Given the description of an element on the screen output the (x, y) to click on. 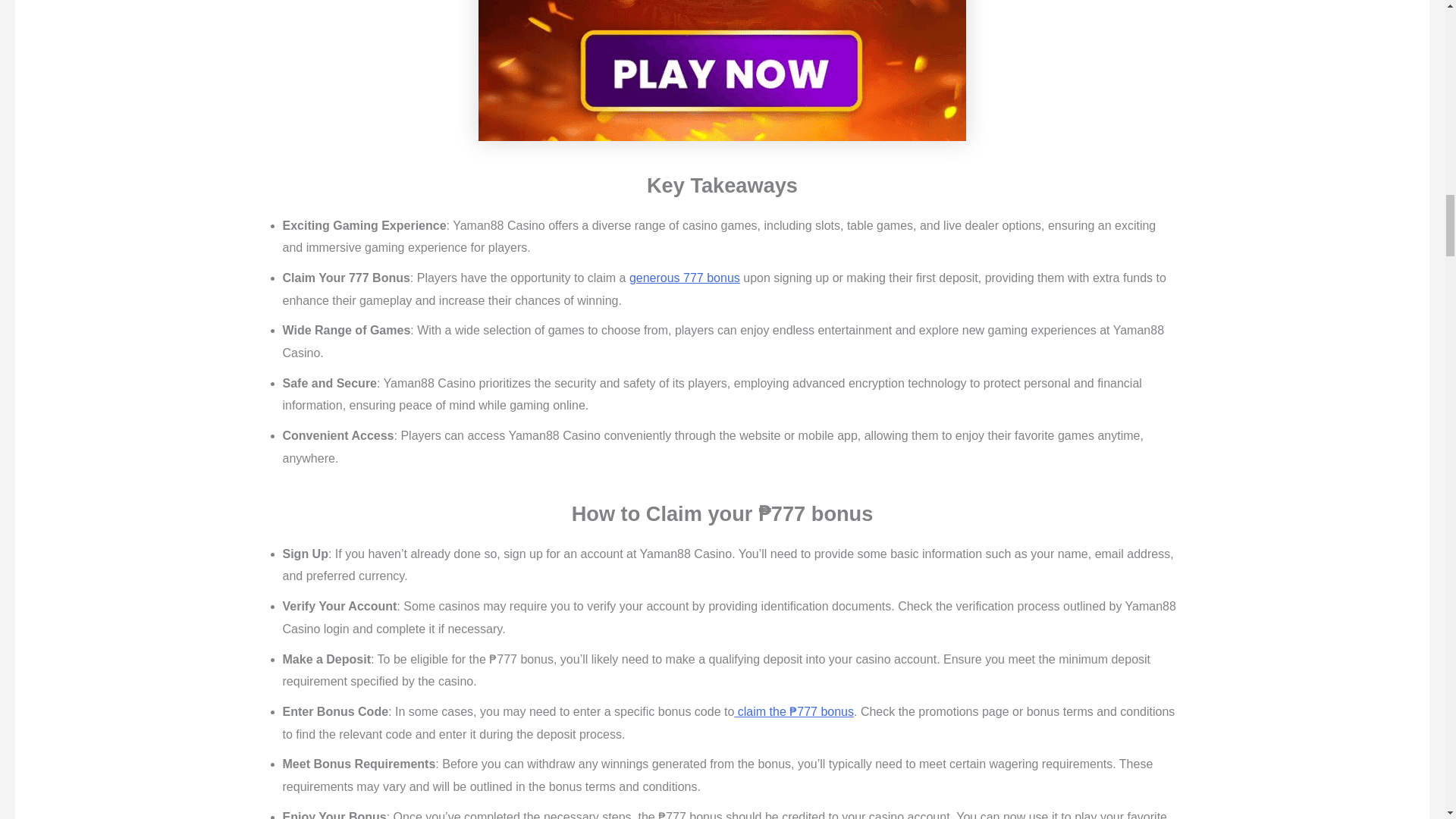
generous 777 bonus (683, 277)
